Given the description of an element on the screen output the (x, y) to click on. 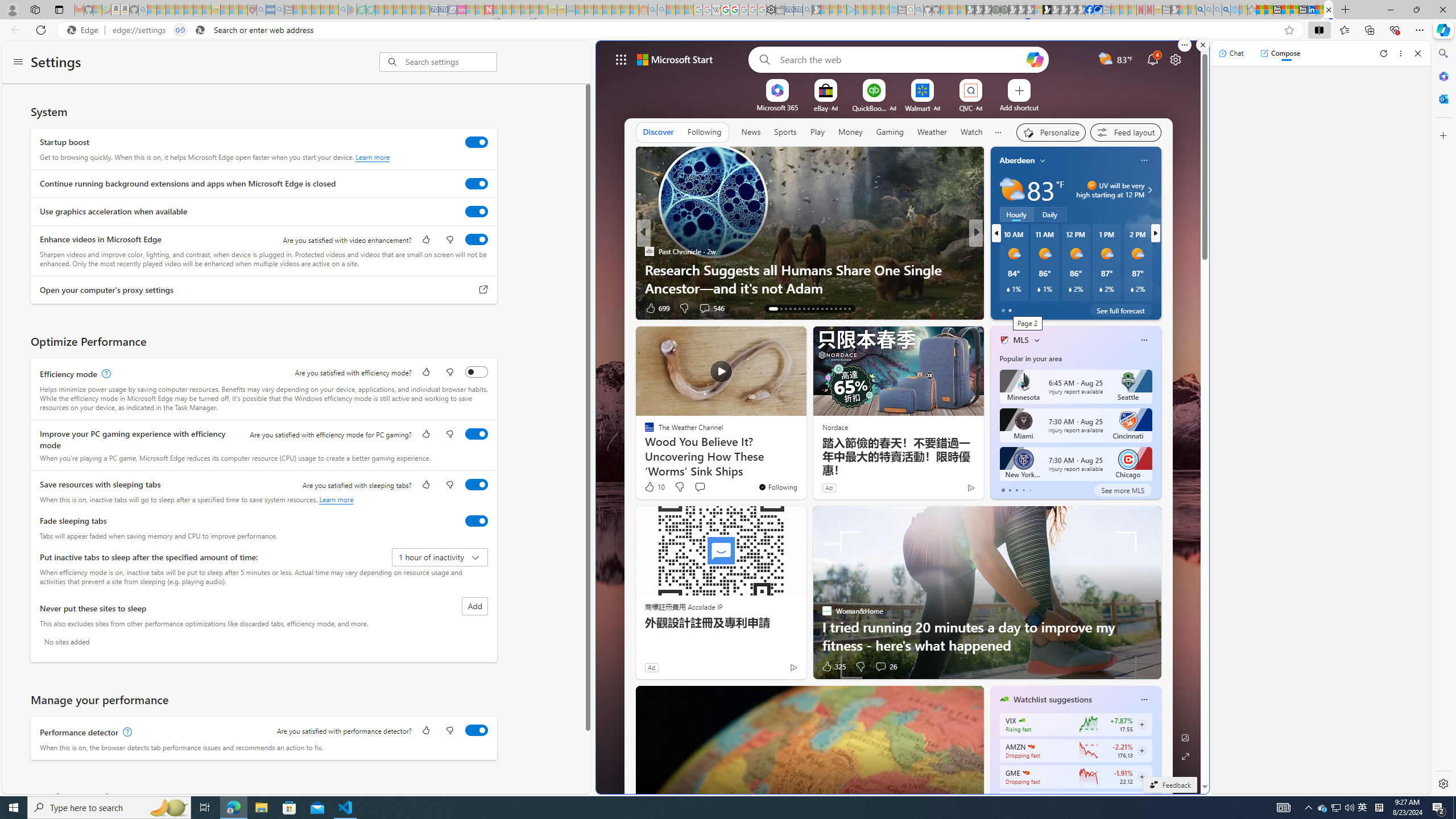
CBOE Market Volatility Index (1021, 720)
152 Like (1007, 307)
You're following The Weather Channel (777, 486)
Target page - Wikipedia - Sleeping (716, 9)
Edit Background (1185, 737)
AZ Animals (US) (999, 250)
tab-4 (1029, 489)
Open your computer's proxy settings (483, 290)
Which foods have the most plastics? You may be surprised (1159, 278)
